Given the description of an element on the screen output the (x, y) to click on. 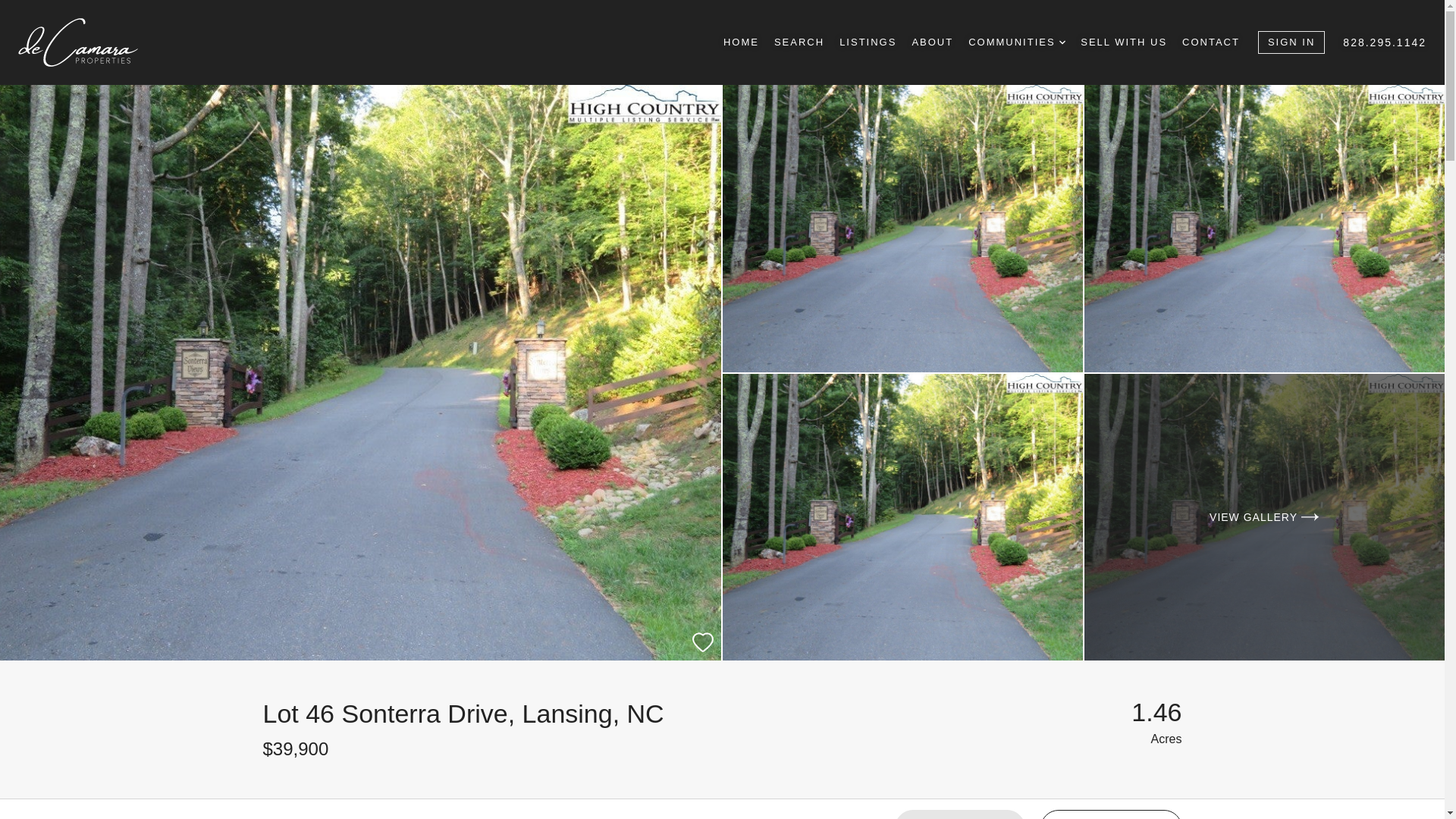
CONTACT (1211, 42)
ASK A QUESTION (1110, 814)
REQUEST SHOWING (673, 809)
HOME (740, 42)
REQUEST INFO (960, 814)
SELL WITH US (1123, 42)
SEARCH (799, 42)
OVERVIEW (291, 809)
828.295.1142 (1384, 42)
DROPDOWN ARROW (1062, 42)
